Given the description of an element on the screen output the (x, y) to click on. 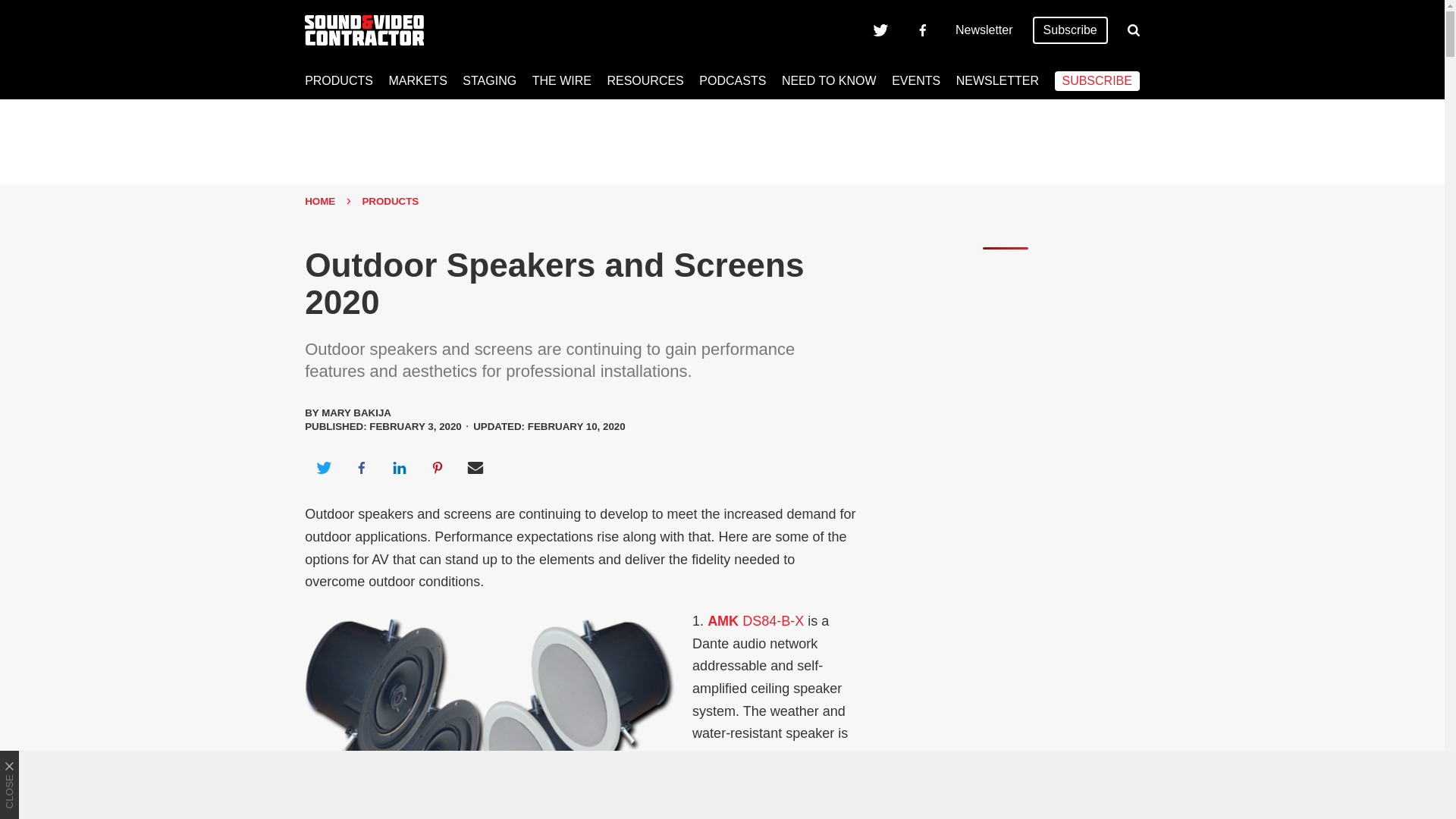
Share via Email (476, 467)
Share on Pinterest (438, 467)
Share on Twitter (323, 467)
Share on LinkedIn (399, 467)
Share on Facebook (361, 467)
